Given the description of an element on the screen output the (x, y) to click on. 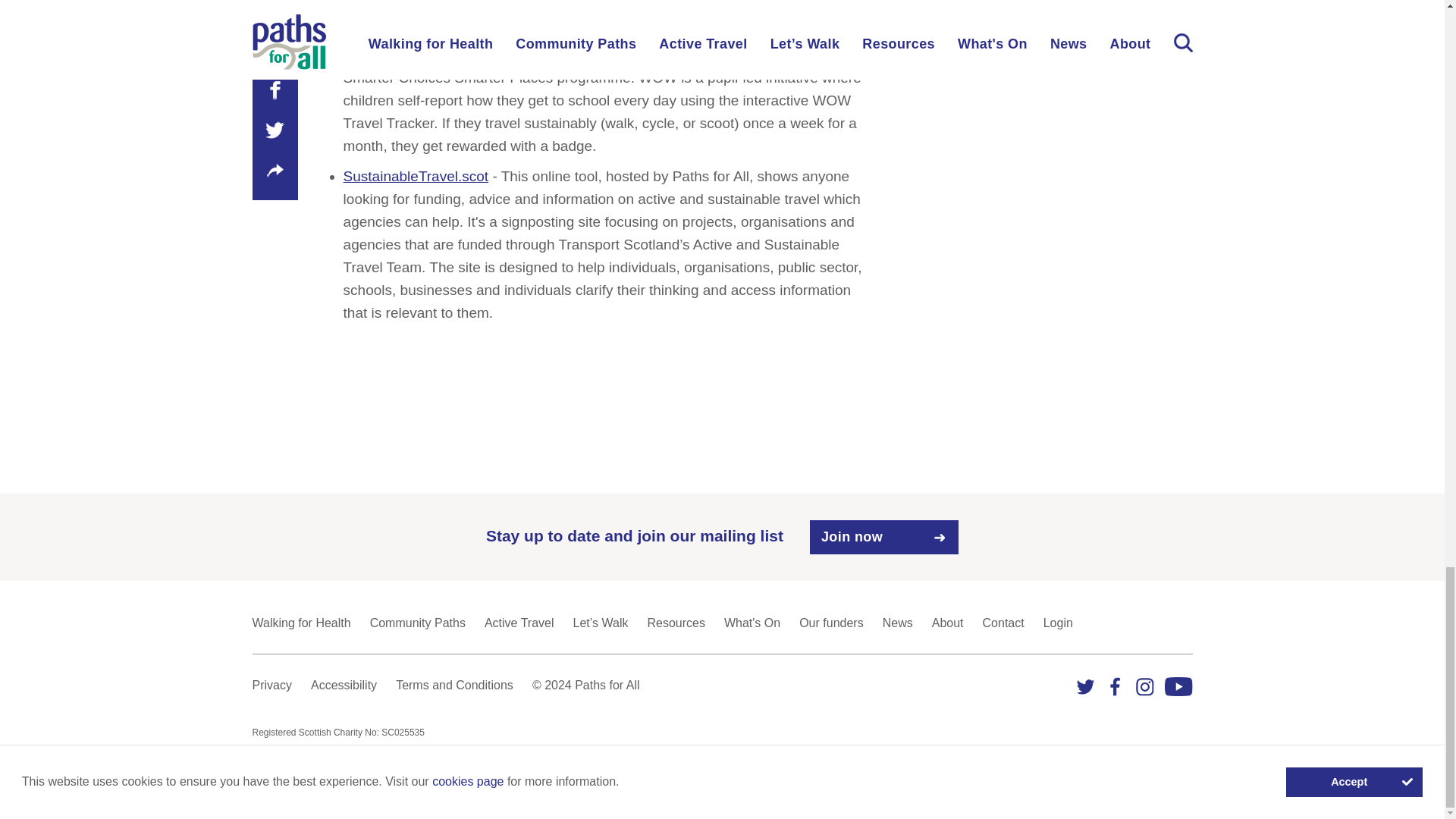
SustainableTravel.scot (416, 176)
Walking for Health (300, 623)
Community Paths (417, 623)
Join now (883, 537)
